Given the description of an element on the screen output the (x, y) to click on. 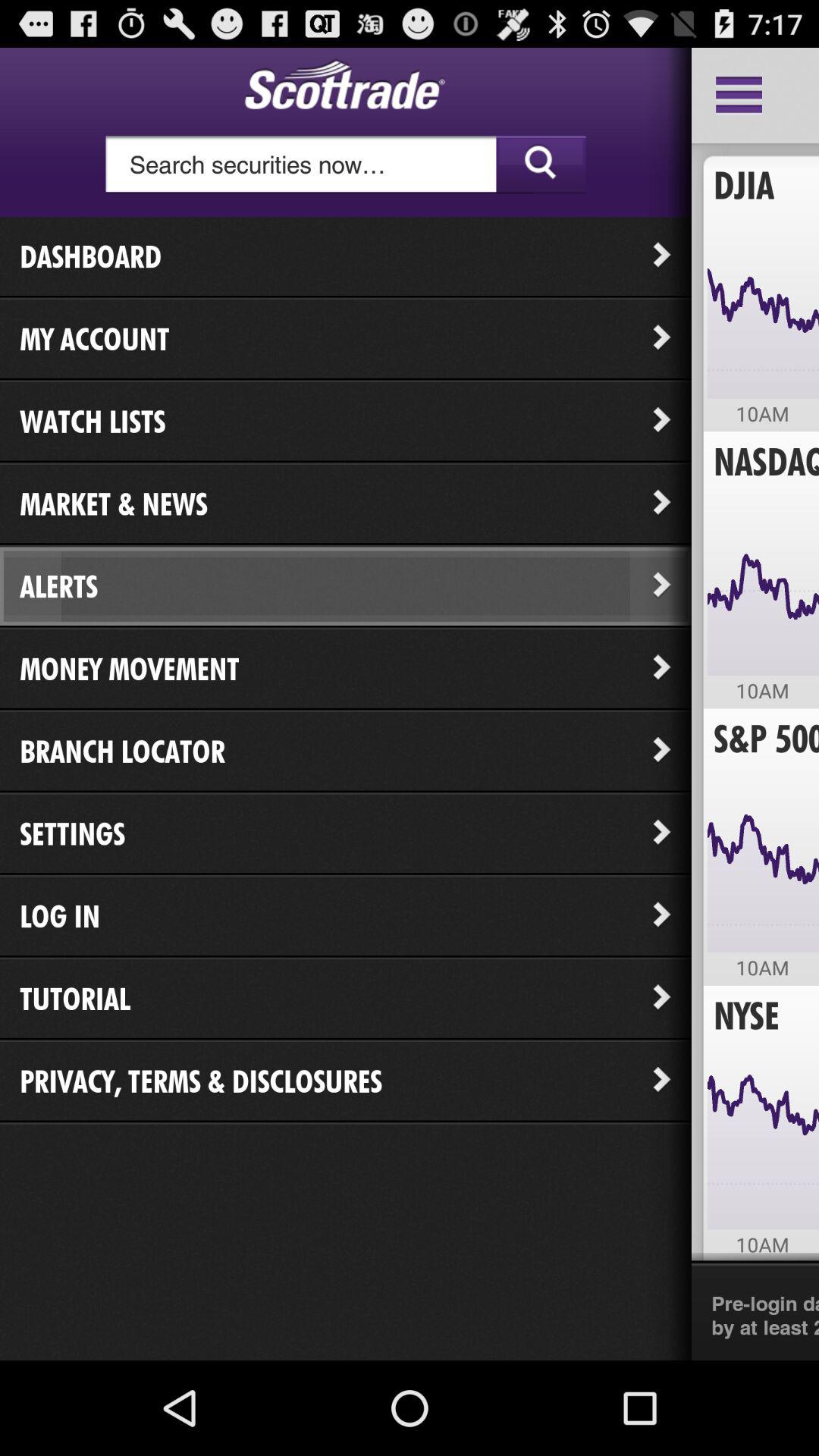
search for securities text field (345, 164)
